Given the description of an element on the screen output the (x, y) to click on. 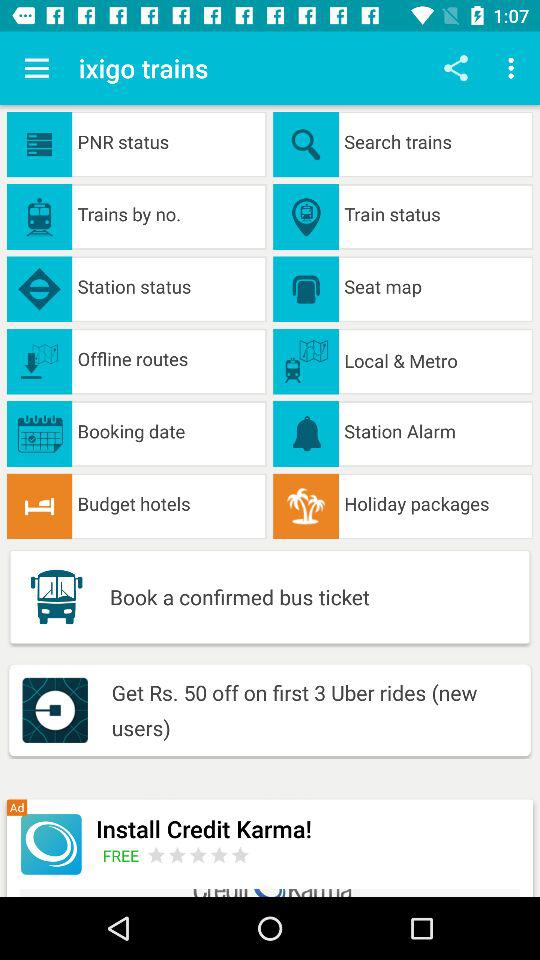
open advertisement (50, 844)
